Given the description of an element on the screen output the (x, y) to click on. 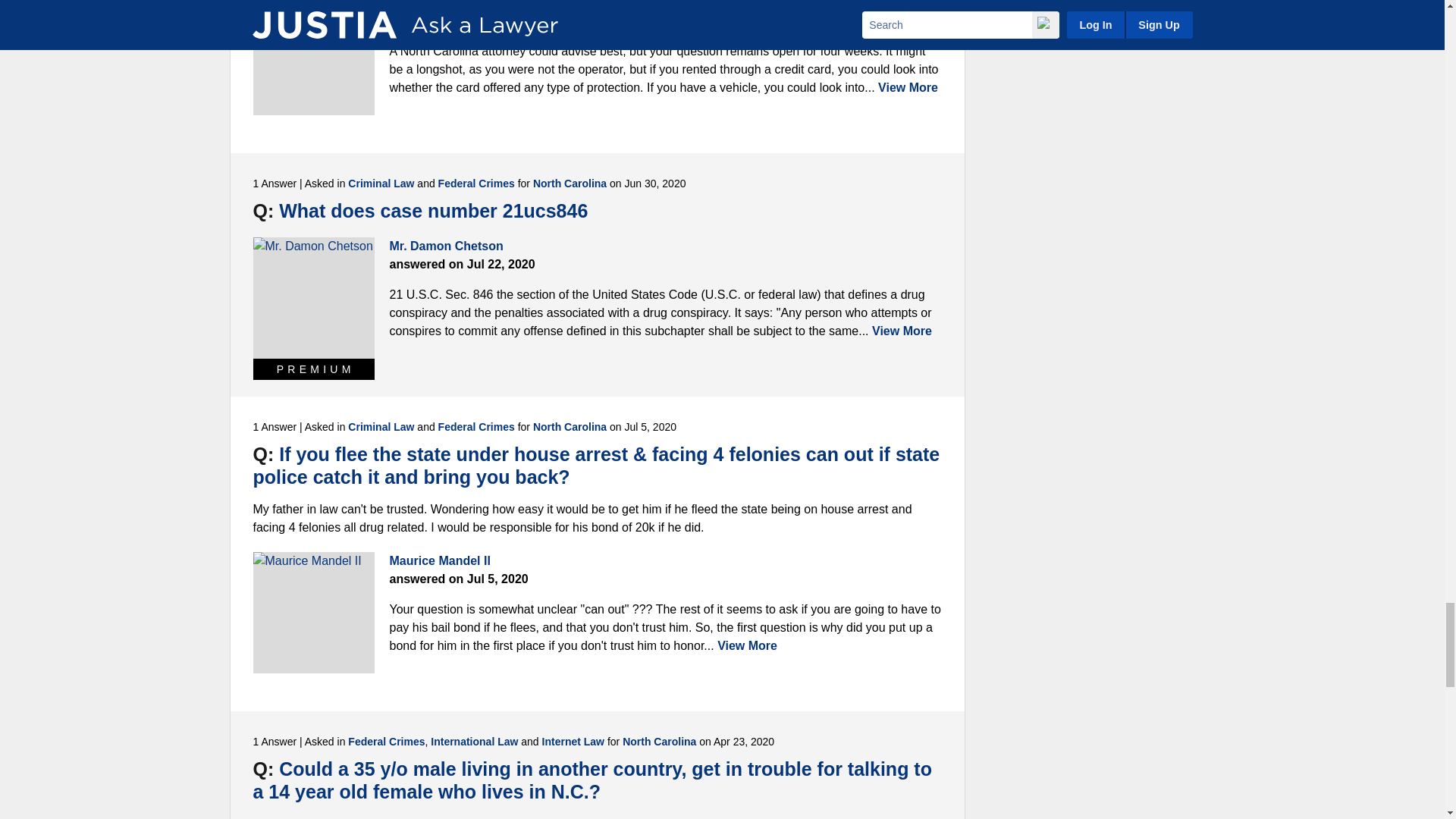
Mr. Damon Chetson (313, 297)
Tim Akpinar (313, 57)
